Given the description of an element on the screen output the (x, y) to click on. 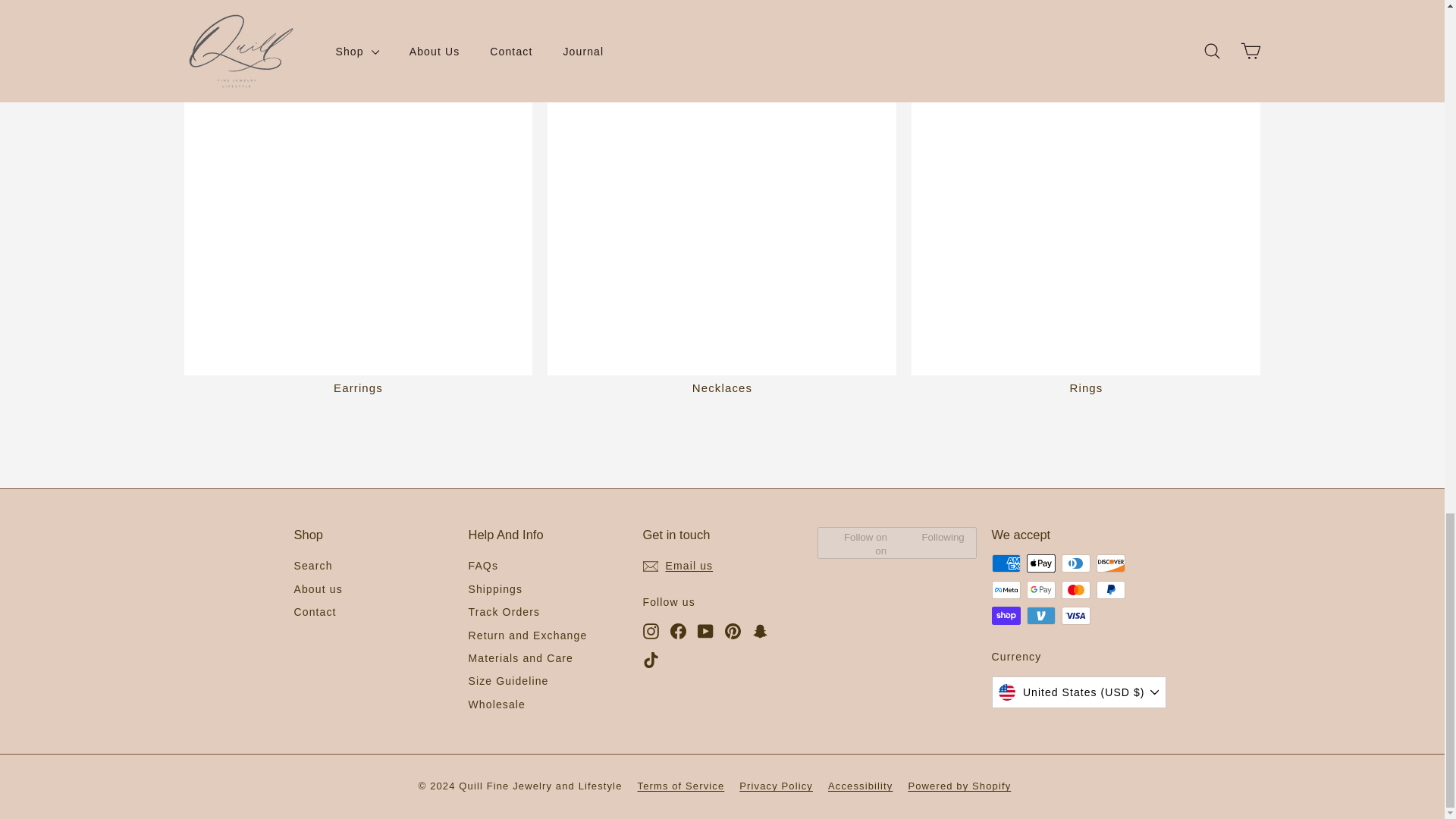
Quill Fine Jewelry and Lifestyle  on YouTube (705, 630)
instagram (651, 631)
Quill Fine Jewelry and Lifestyle  on Facebook (677, 630)
Quill Fine Jewelry and Lifestyle  on Instagram (651, 630)
